Given the description of an element on the screen output the (x, y) to click on. 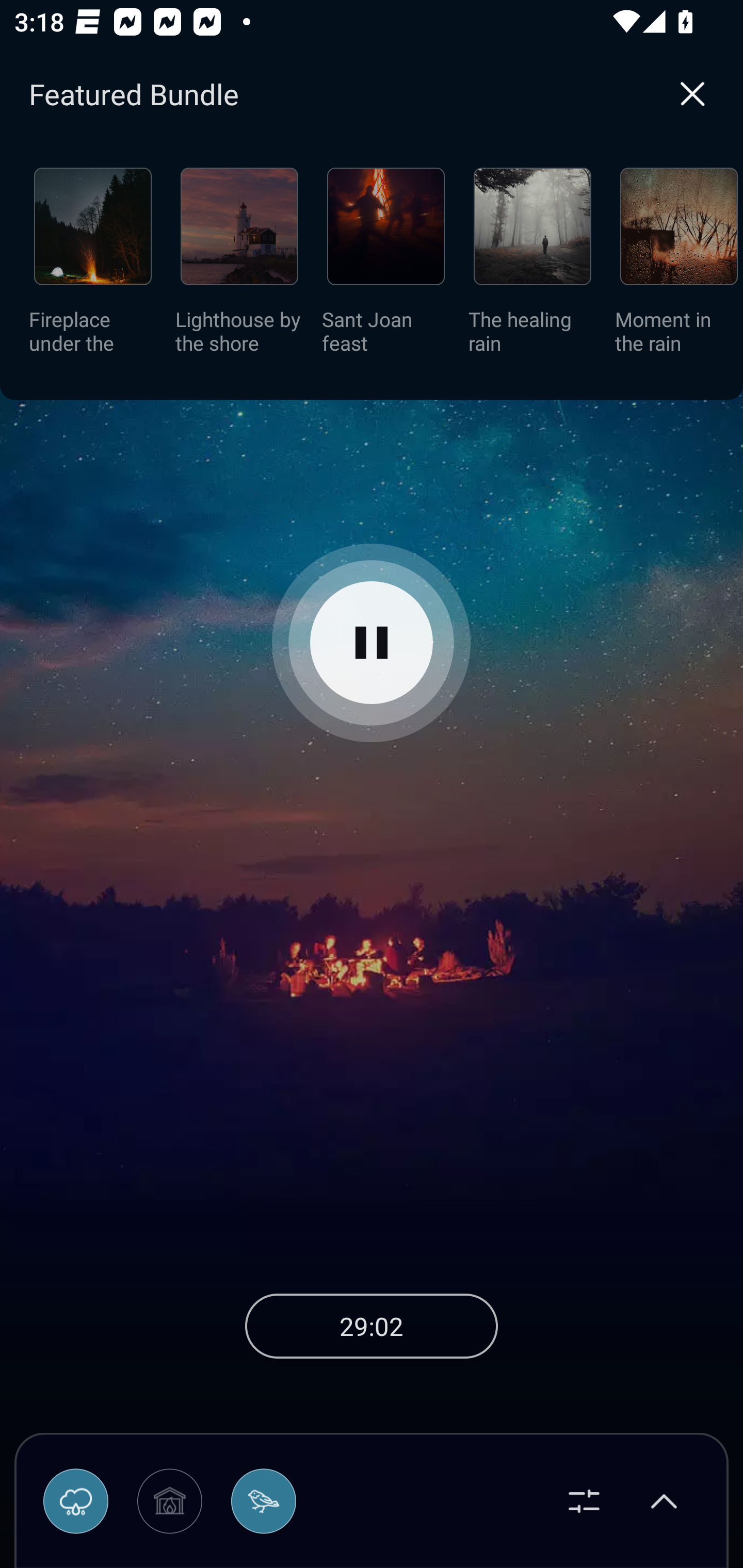
Fireplace under the milky way (92, 267)
Lighthouse by the shore (239, 267)
Sant Joan feast (385, 267)
The healing rain (532, 267)
Moment in the rain (679, 267)
29:02 (371, 1325)
